Given the description of an element on the screen output the (x, y) to click on. 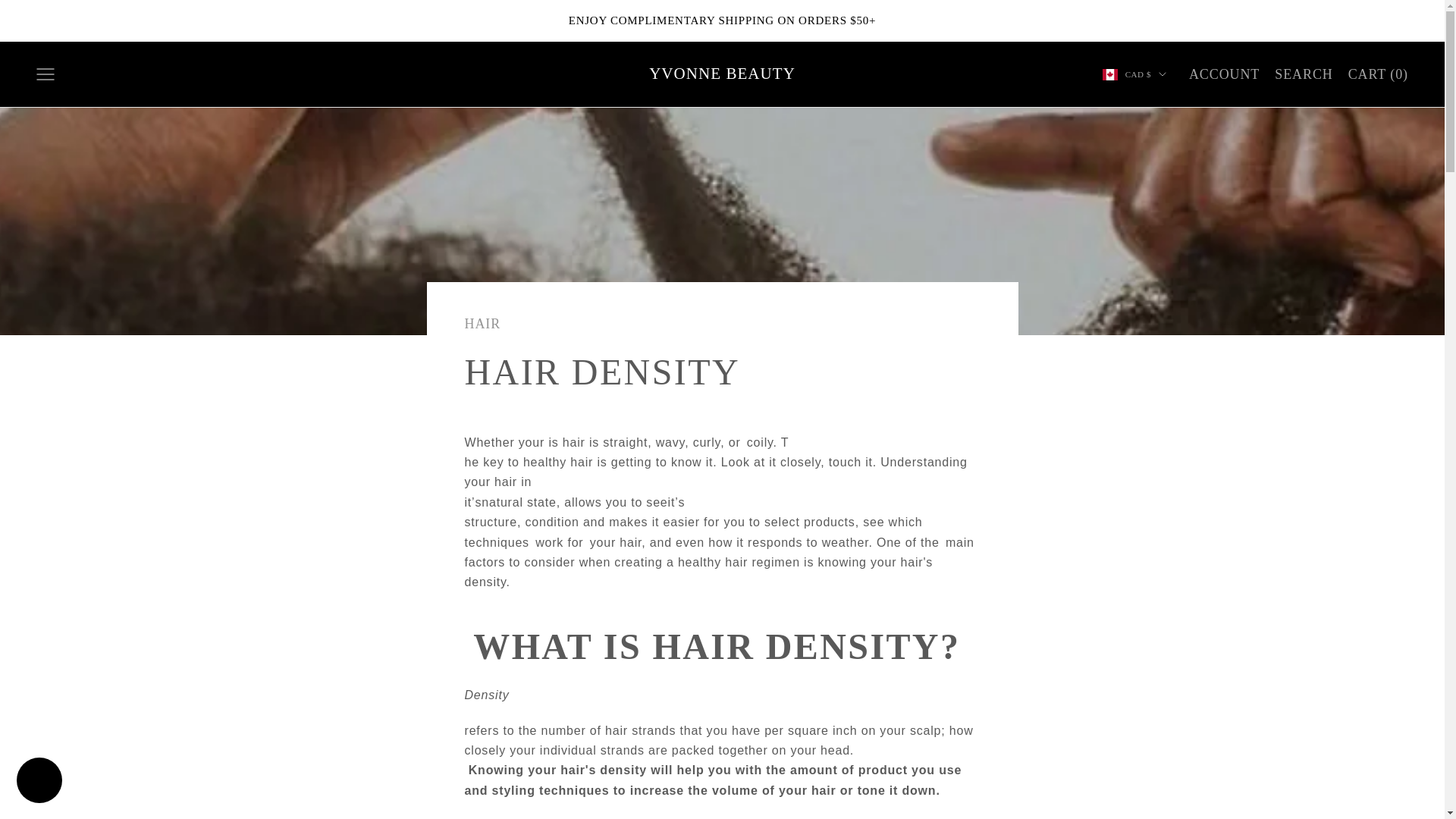
YVONNE BEAUTY (721, 73)
Shopify online store chat (38, 781)
Open navigation menu (45, 74)
